Given the description of an element on the screen output the (x, y) to click on. 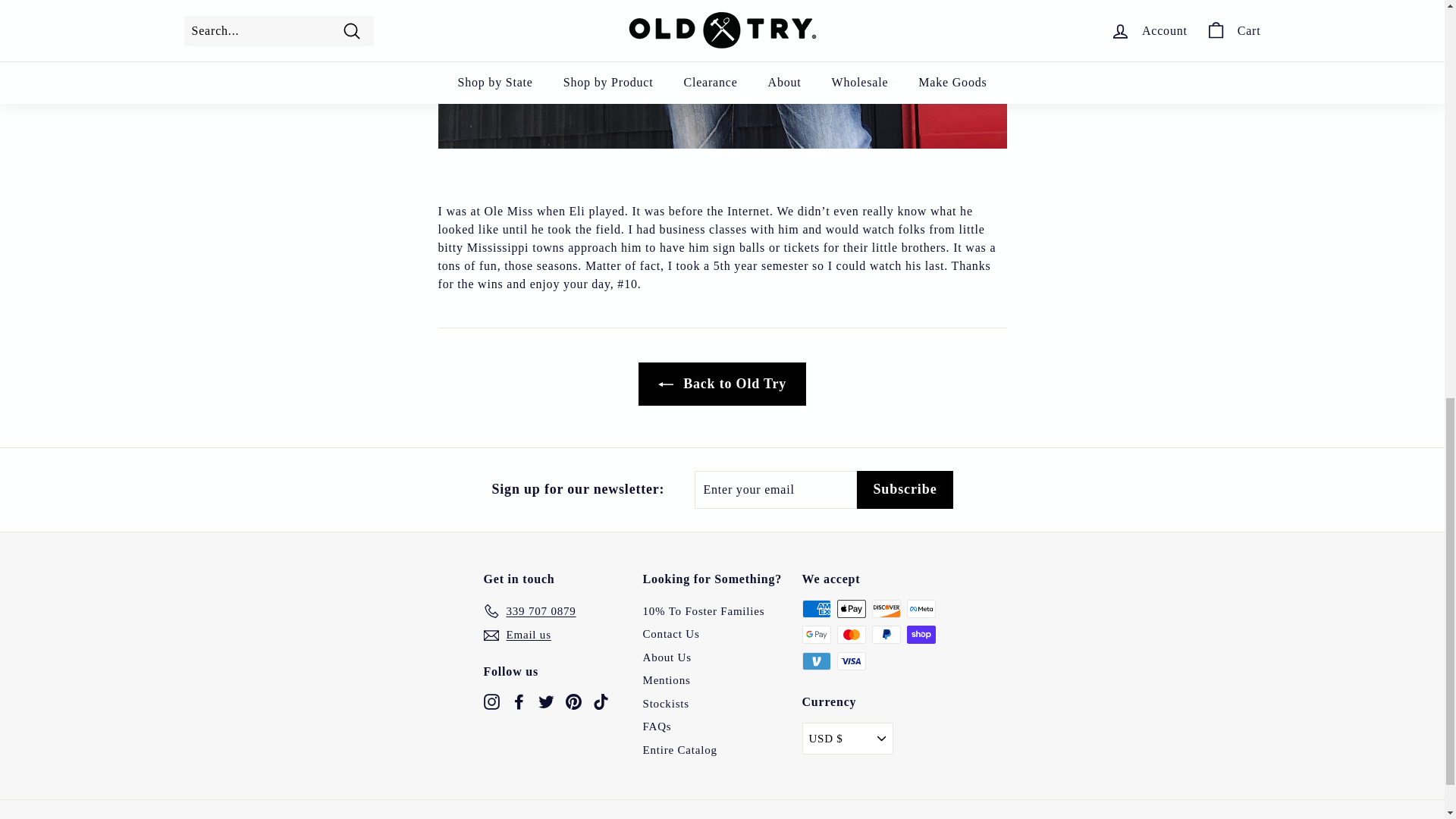
Old Try on Facebook (519, 701)
Old Try on Instagram (491, 701)
PayPal (886, 634)
American Express (816, 608)
Old Try on Twitter (546, 701)
Old Try on TikTok (600, 701)
Venmo (816, 660)
Meta Pay (921, 608)
Old Try on Pinterest (573, 701)
Shop Pay (921, 634)
Google Pay (816, 634)
Apple Pay (851, 608)
Mastercard (851, 634)
Discover (886, 608)
